Given the description of an element on the screen output the (x, y) to click on. 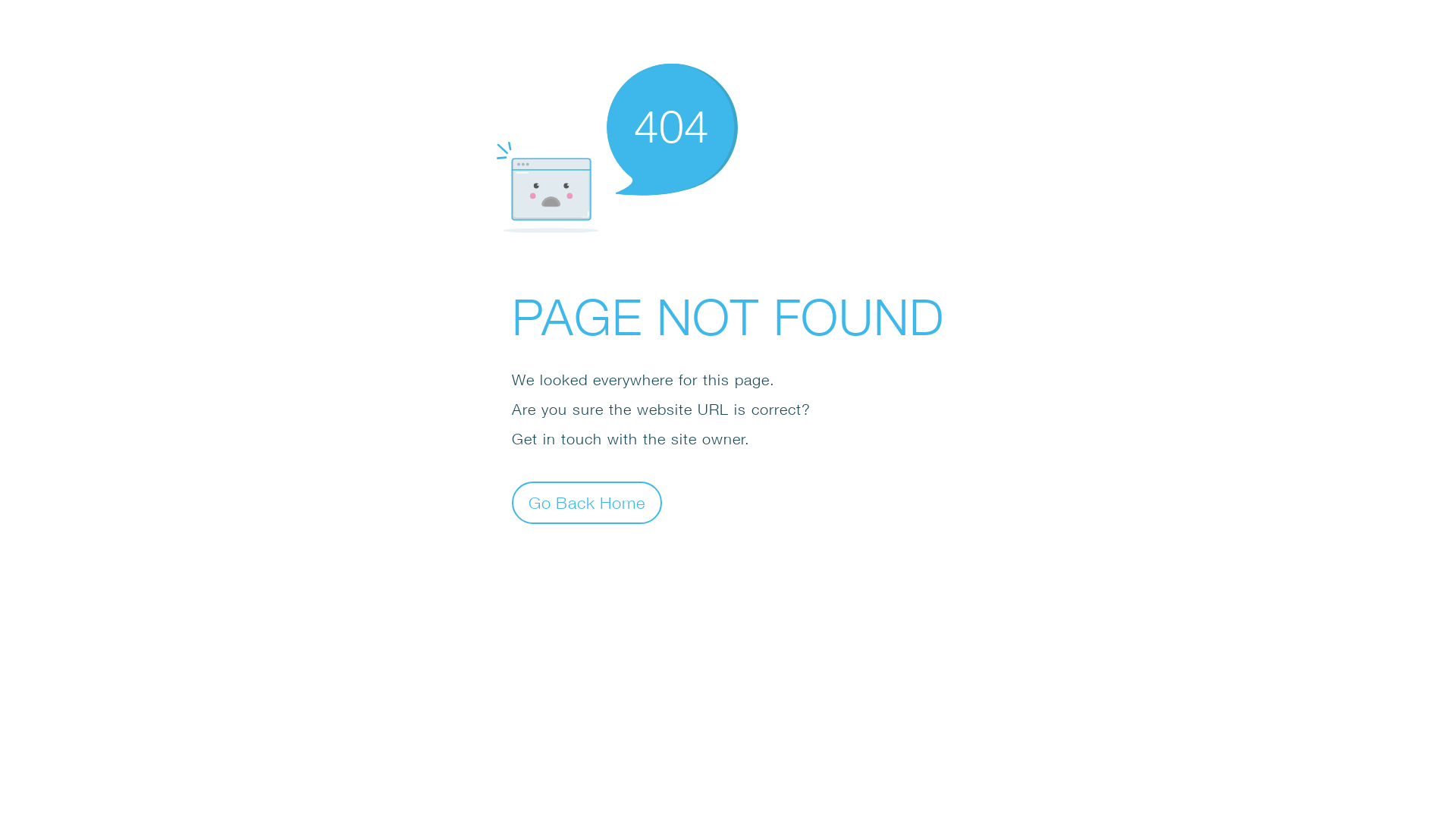
Go Back Home Element type: text (586, 502)
